Given the description of an element on the screen output the (x, y) to click on. 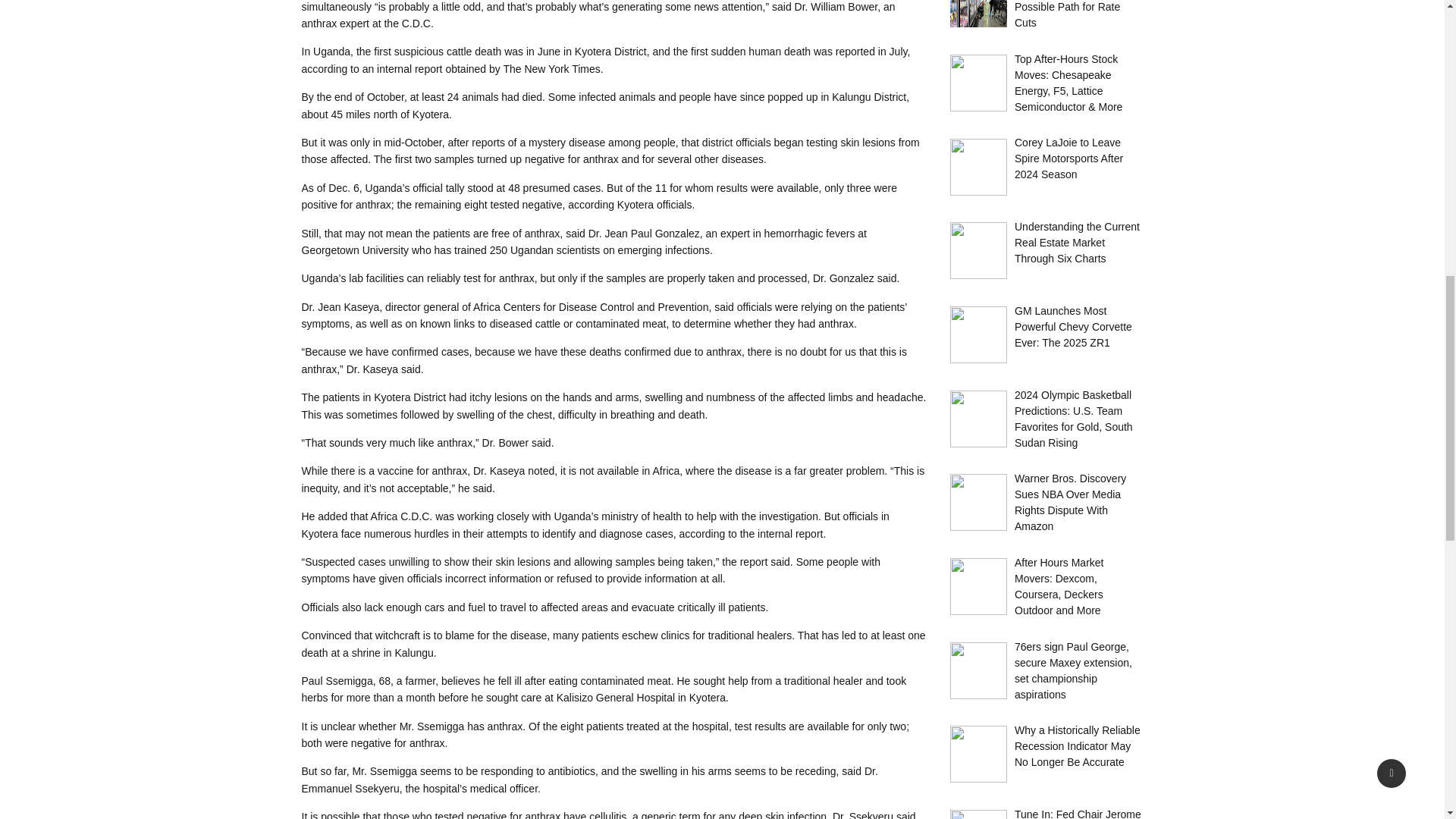
Corey LaJoie to Leave Spire Motorsports After 2024 Season (1068, 158)
GM Launches Most Powerful Chevy Corvette Ever: The 2025 ZR1 (1073, 326)
